Given the description of an element on the screen output the (x, y) to click on. 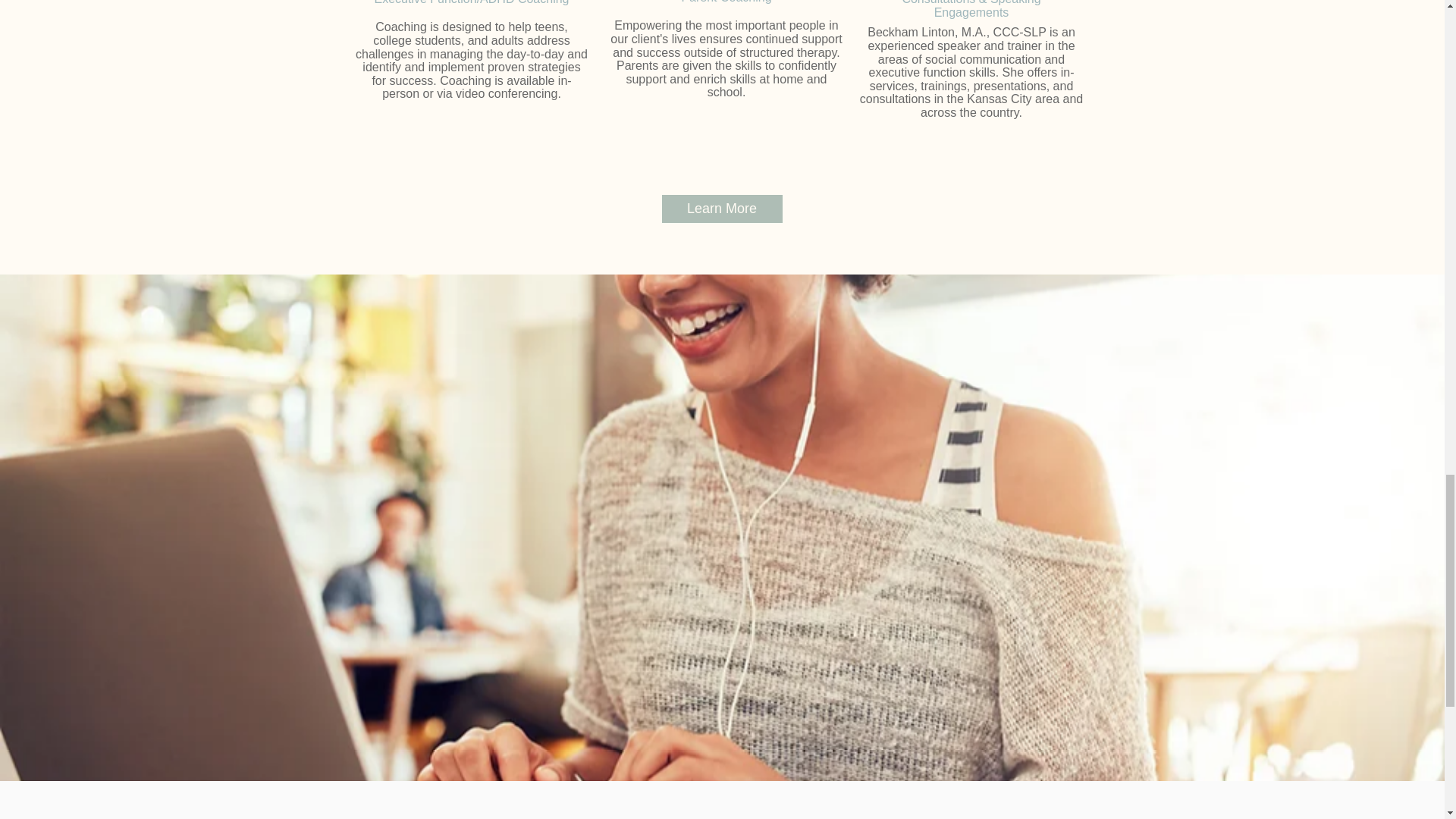
Learn More (721, 208)
